Given the description of an element on the screen output the (x, y) to click on. 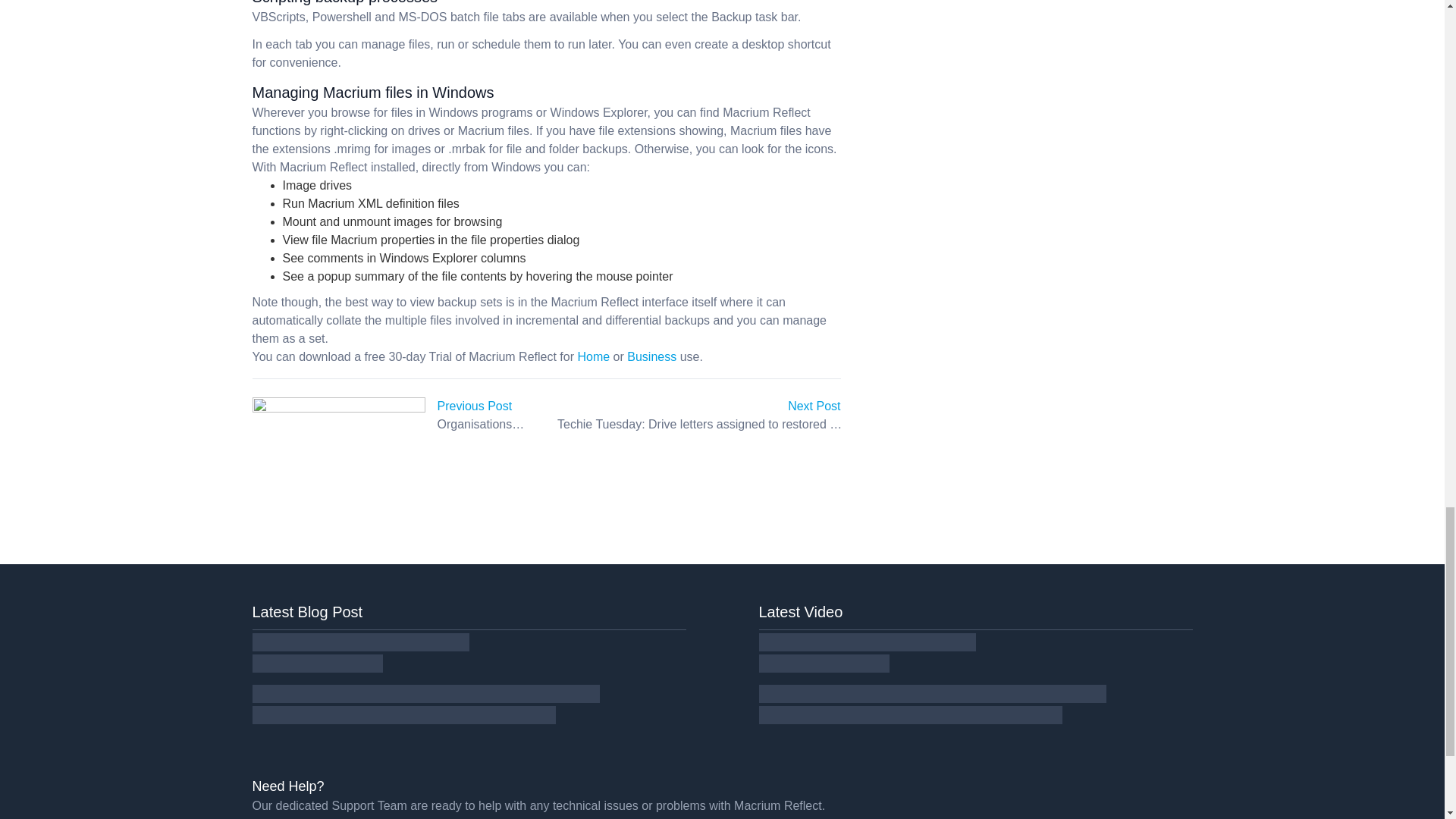
Business (652, 356)
Next Post (813, 405)
Home (593, 356)
Previous Post (474, 405)
